Given the description of an element on the screen output the (x, y) to click on. 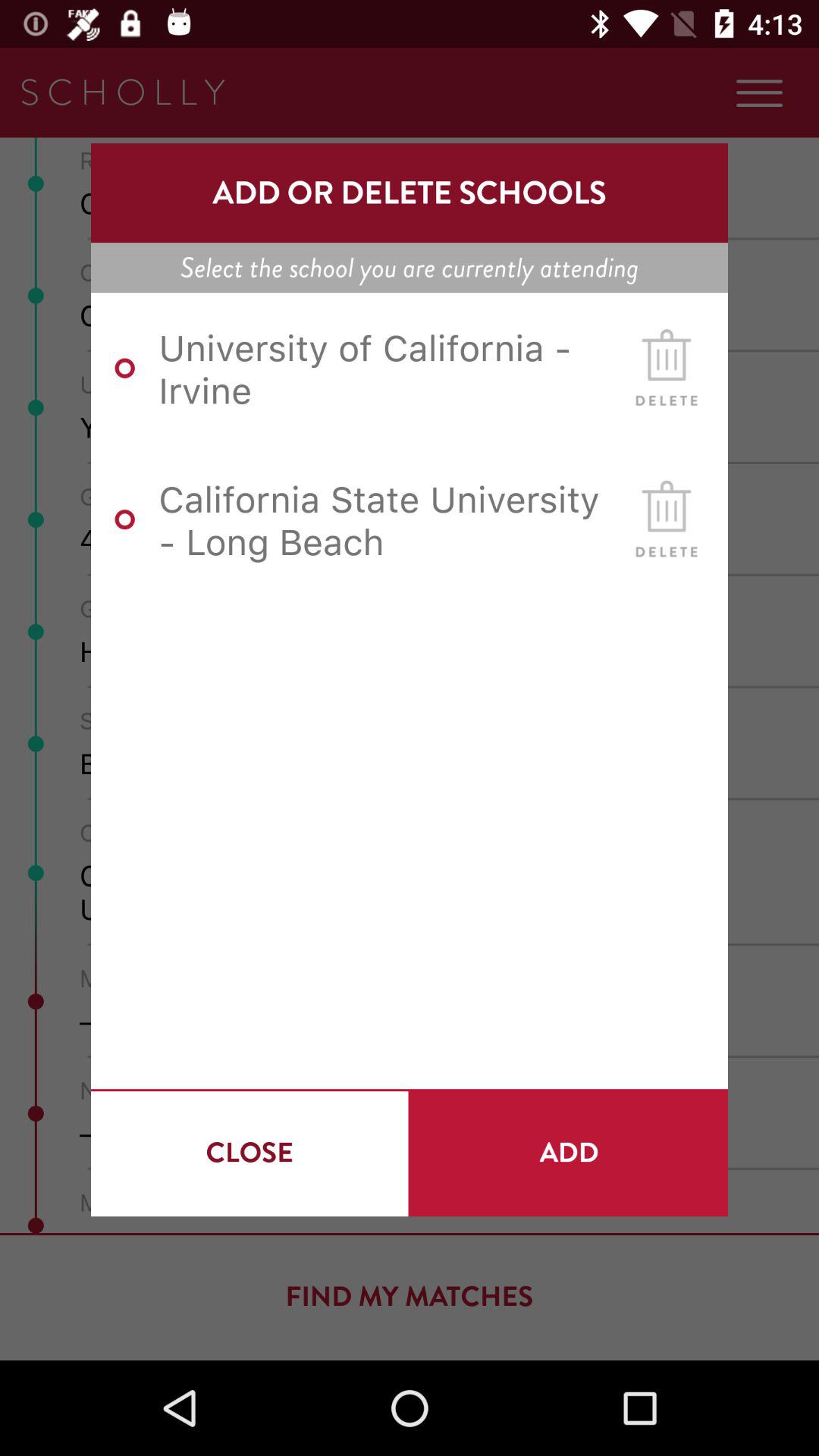
press icon below california state university item (249, 1152)
